Given the description of an element on the screen output the (x, y) to click on. 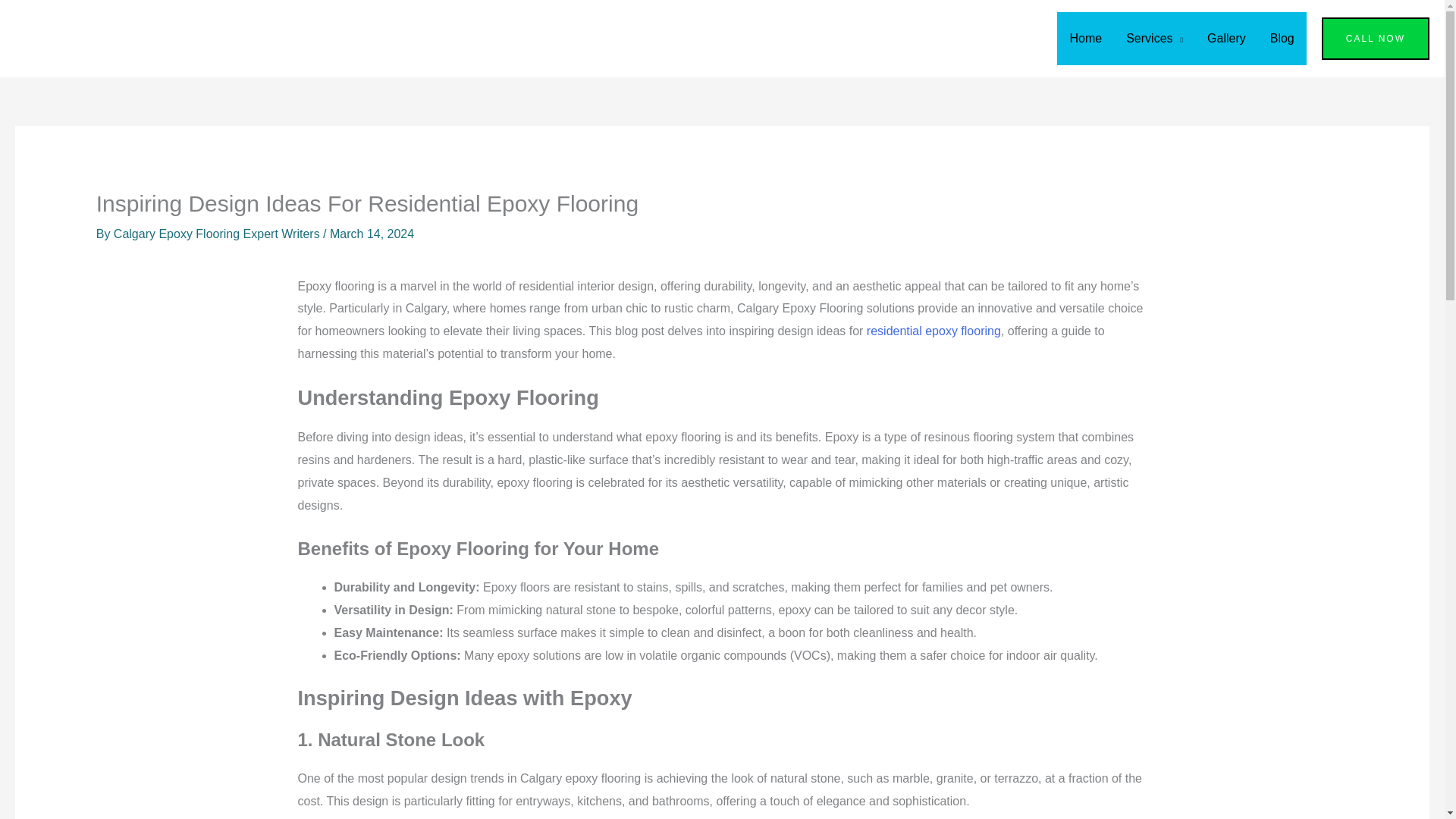
Gallery (1226, 38)
Blog (1281, 38)
CALL NOW (1375, 38)
View all posts by Calgary Epoxy Flooring Expert Writers (218, 233)
Services (1154, 38)
Calgary Epoxy Flooring Expert Writers (218, 233)
Home (1085, 38)
residential epoxy flooring (933, 330)
